Given the description of an element on the screen output the (x, y) to click on. 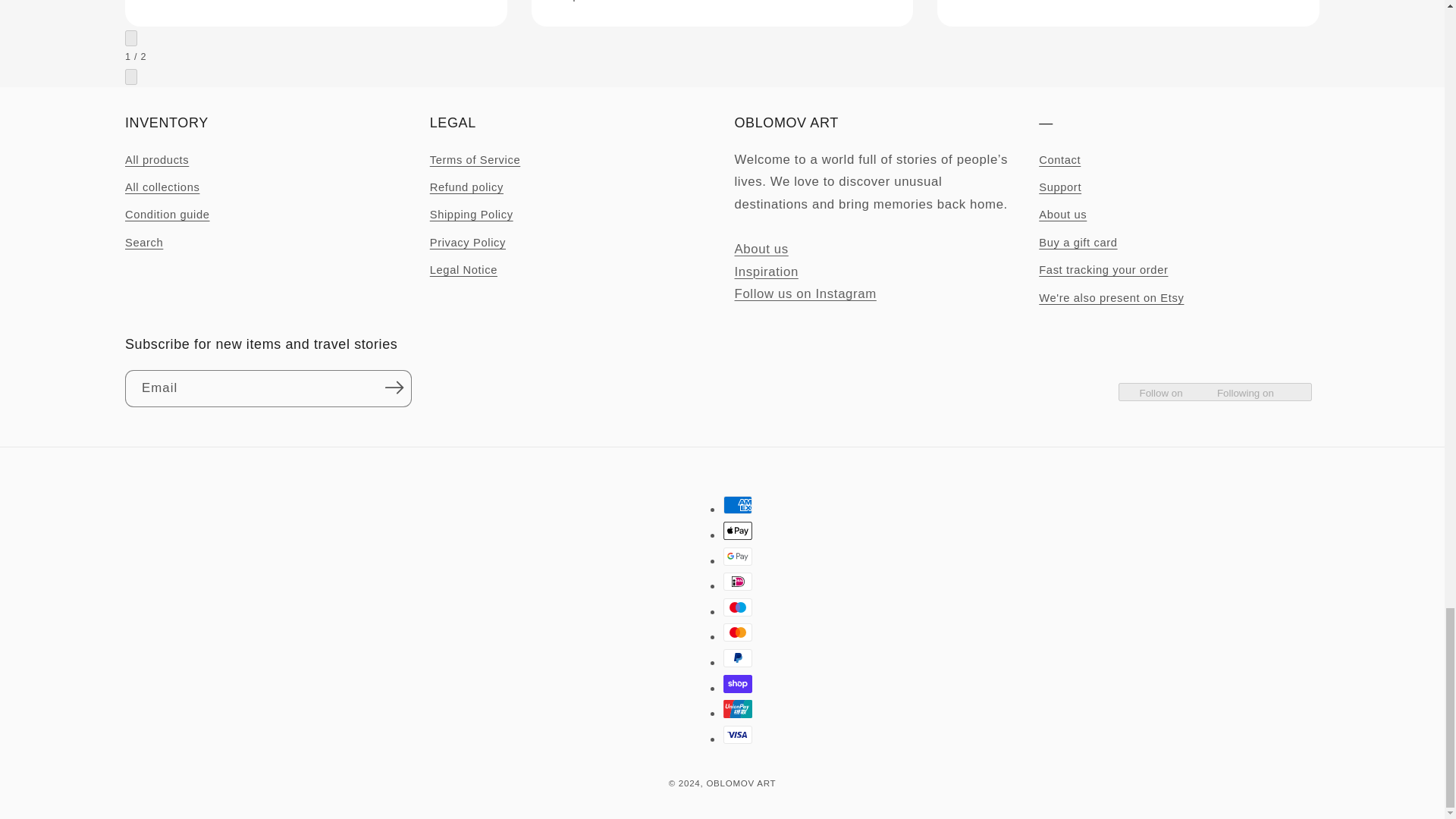
PayPal (737, 658)
Google Pay (737, 556)
Maestro (737, 607)
About us (760, 248)
iDEAL (737, 581)
Mastercard (737, 632)
American Express (737, 505)
Apple Pay (737, 530)
Inspiration (765, 271)
